Given the description of an element on the screen output the (x, y) to click on. 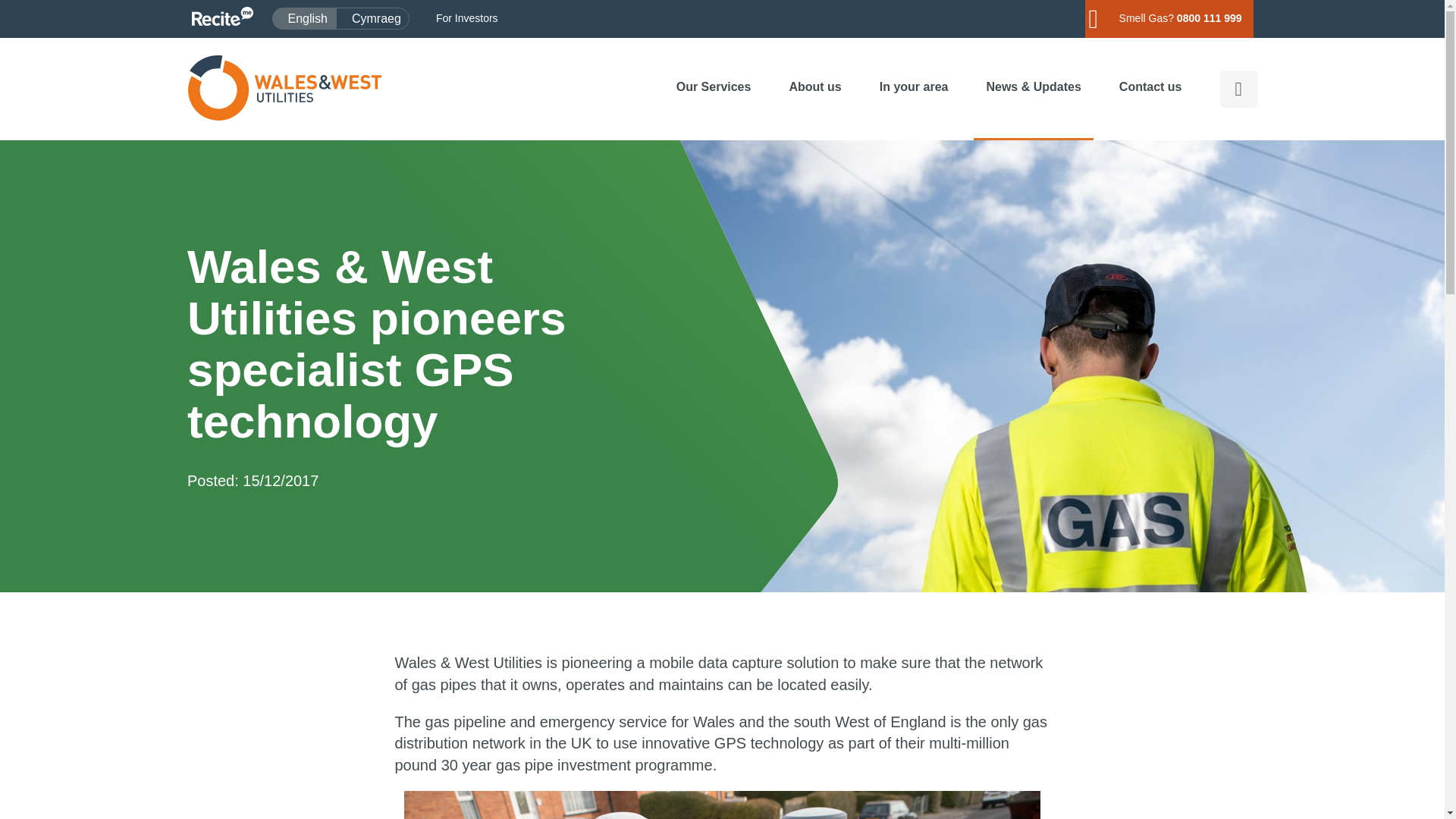
Our Services (714, 87)
Go to Wales and West Utilities home page (284, 87)
Launch Search Overlay (1238, 88)
About us (372, 18)
